Given the description of an element on the screen output the (x, y) to click on. 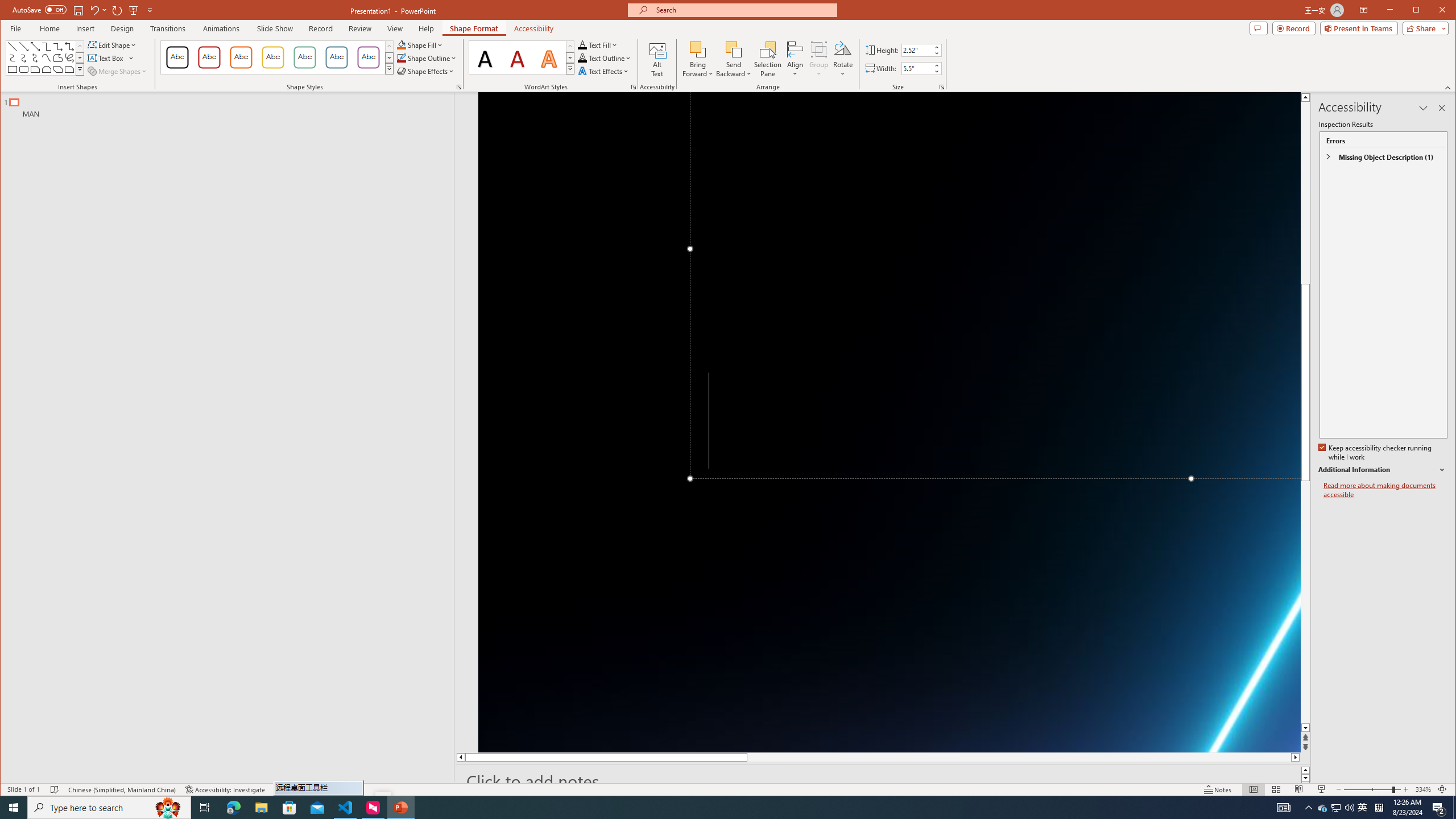
Draw Horizontal Text Box (106, 57)
Shape Height (916, 50)
Bring Forward (697, 59)
